Given the description of an element on the screen output the (x, y) to click on. 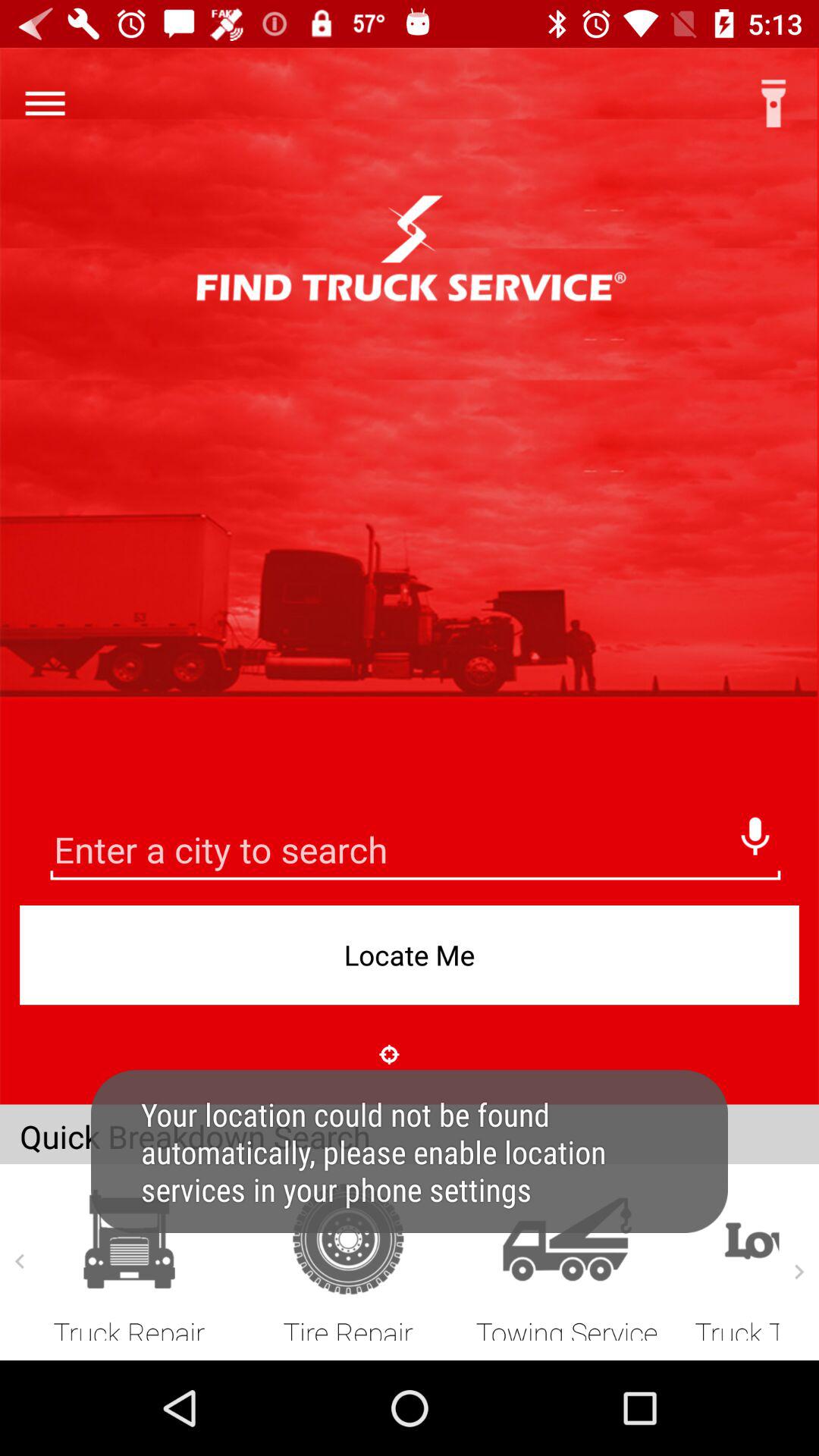
open keyboard (415, 851)
